Given the description of an element on the screen output the (x, y) to click on. 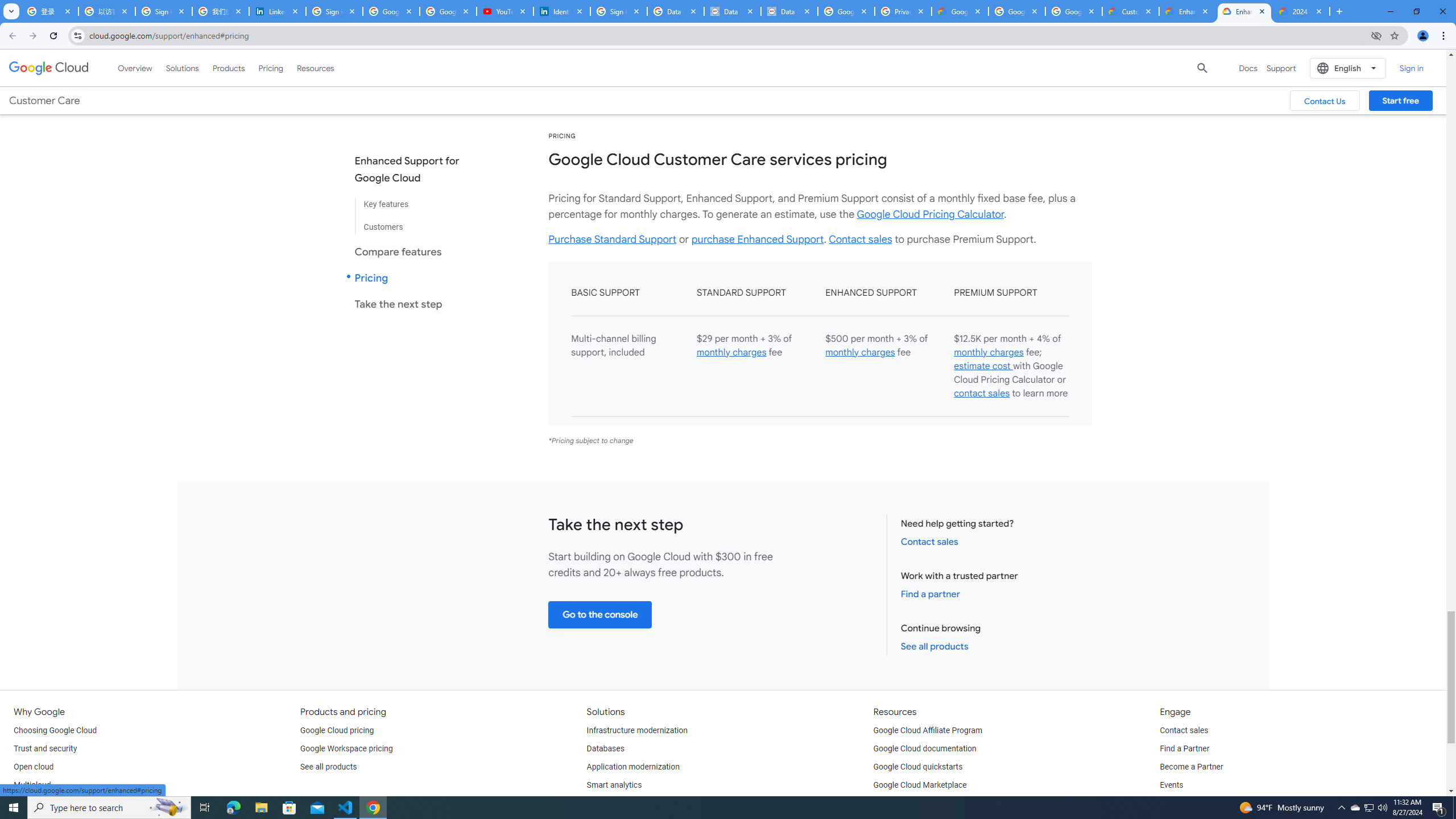
Choosing Google Cloud (55, 730)
Contact Us (1324, 100)
Third-party cookies blocked (1376, 35)
Take the next step (416, 303)
Google Cloud pricing (336, 730)
Compare features (416, 251)
Application modernization (632, 766)
See all products (327, 766)
Go to the console (600, 614)
Address and search bar (726, 35)
